Given the description of an element on the screen output the (x, y) to click on. 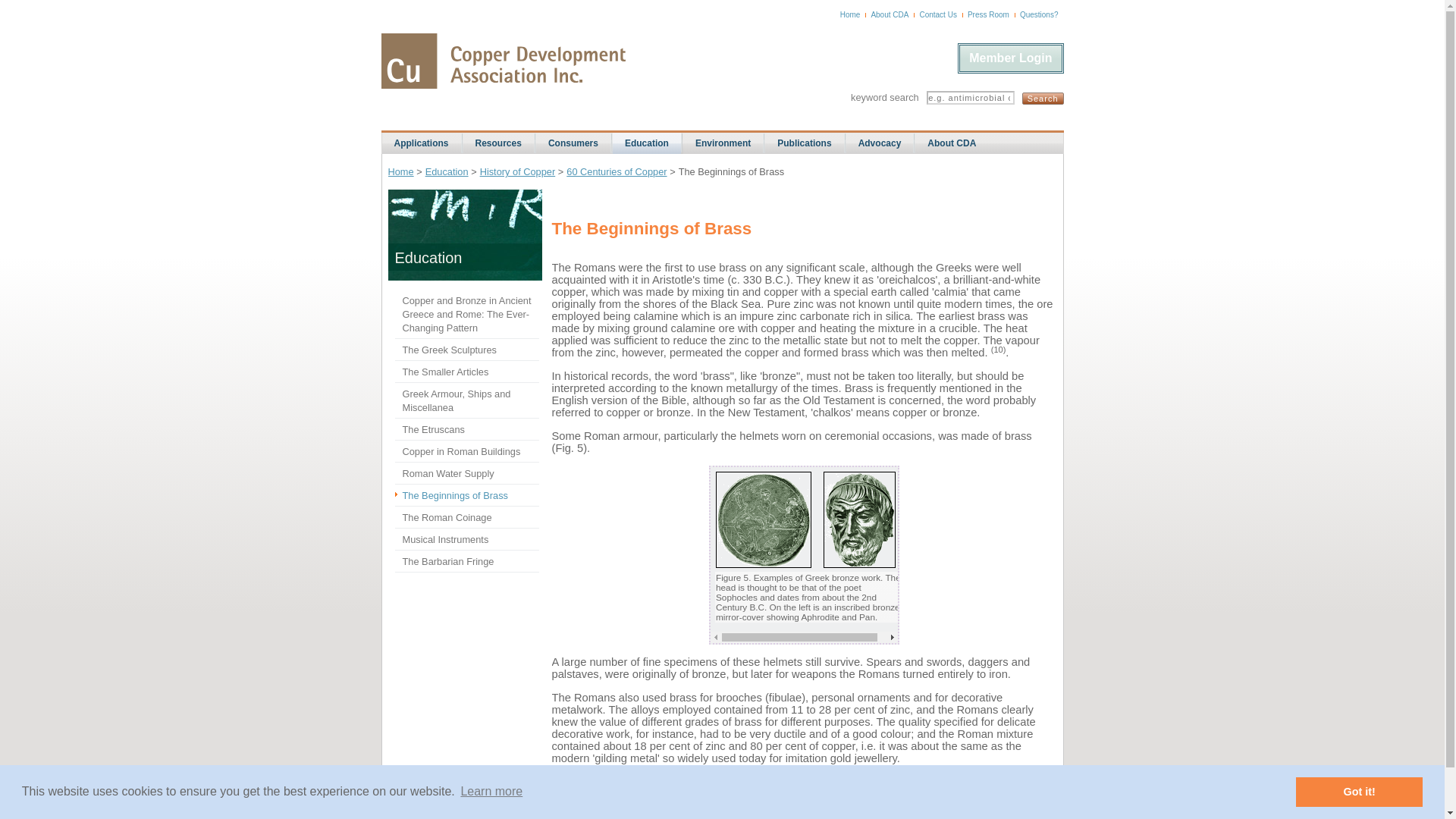
Contact Us (937, 14)
Got it! (1358, 791)
Copper resources for consumers (572, 142)
smaller font size (707, 816)
Search (1043, 98)
Press Room (988, 14)
Applications of Copper and Copper Alloys (421, 142)
Member Login (1010, 58)
CDA Advocacy (879, 142)
Questions? (1039, 14)
About CDA (889, 14)
Applications (421, 142)
Copper and Copper-related resources (498, 142)
Home (850, 14)
